Given the description of an element on the screen output the (x, y) to click on. 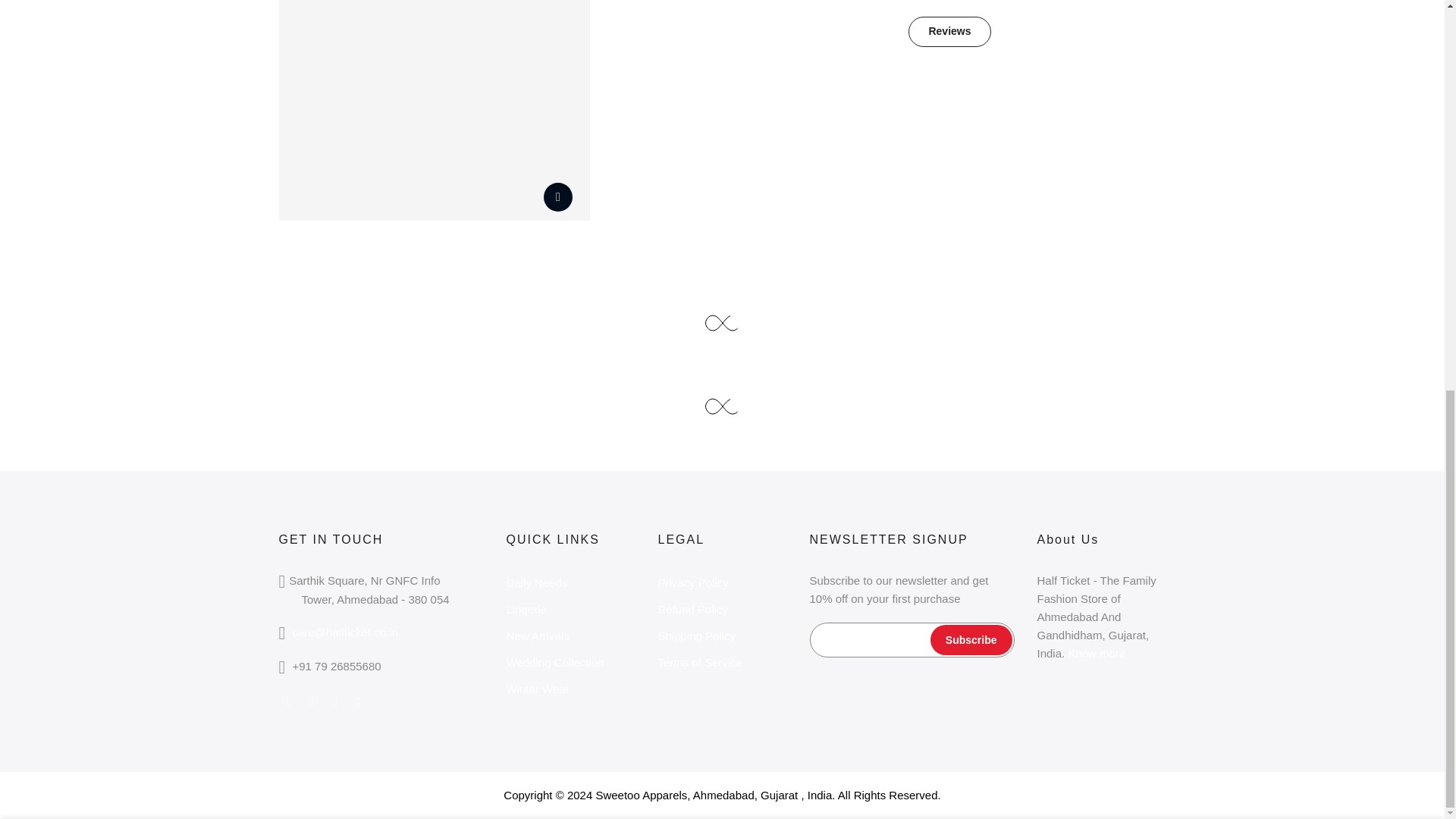
About Us (1096, 653)
1 (1001, 109)
